Given the description of an element on the screen output the (x, y) to click on. 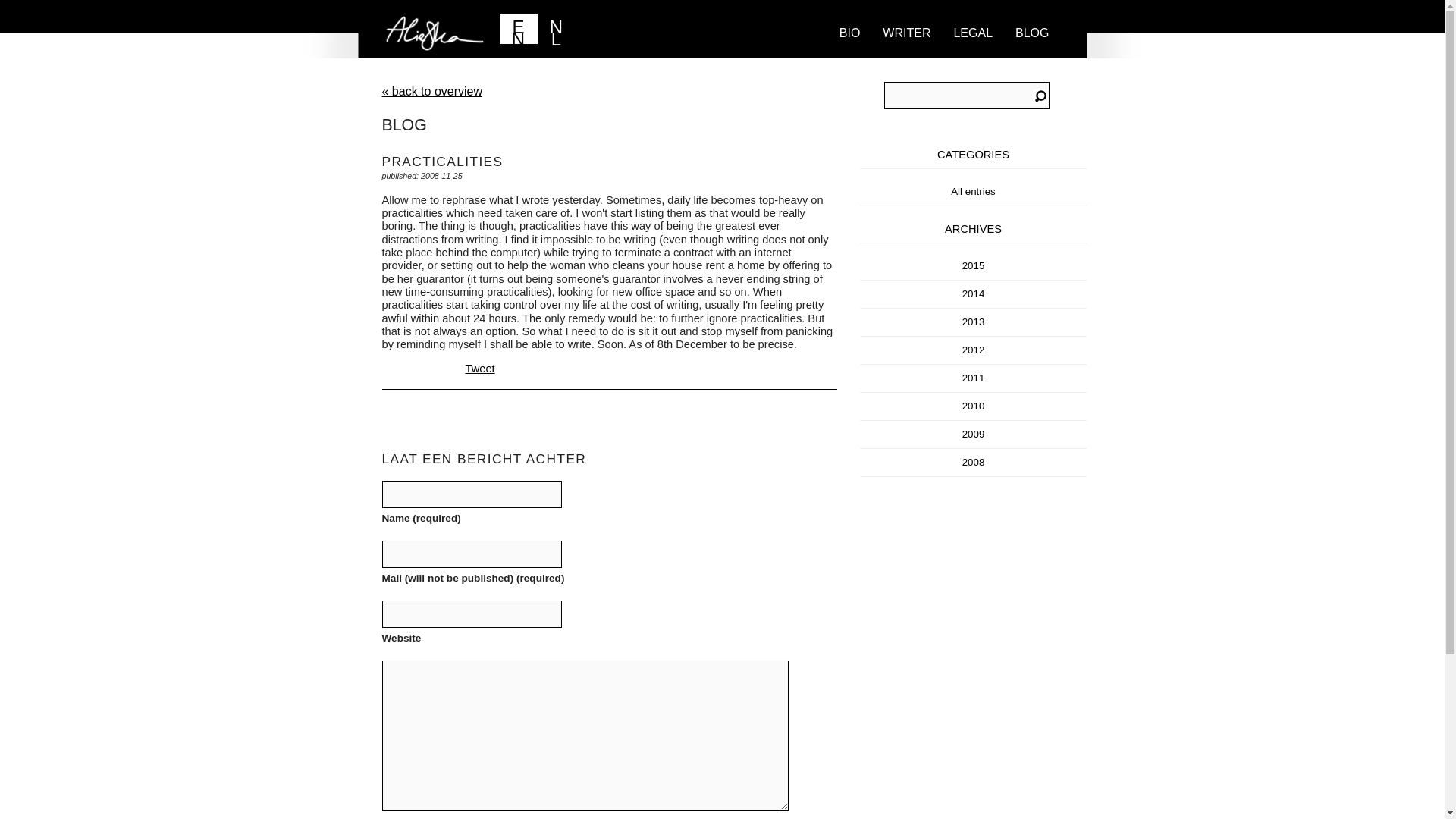
Year 2013 archives (973, 321)
Bio (850, 48)
Tweet (480, 368)
Year 2008 archives (973, 461)
NL (556, 28)
Year 2010 archives (973, 405)
Search (1040, 96)
Year 2012 archives (973, 349)
2014 (973, 293)
Year 2009 archives (973, 433)
WRITER (906, 48)
2015 (973, 265)
Search (1040, 96)
EN (518, 28)
Portfolio (906, 48)
